Given the description of an element on the screen output the (x, y) to click on. 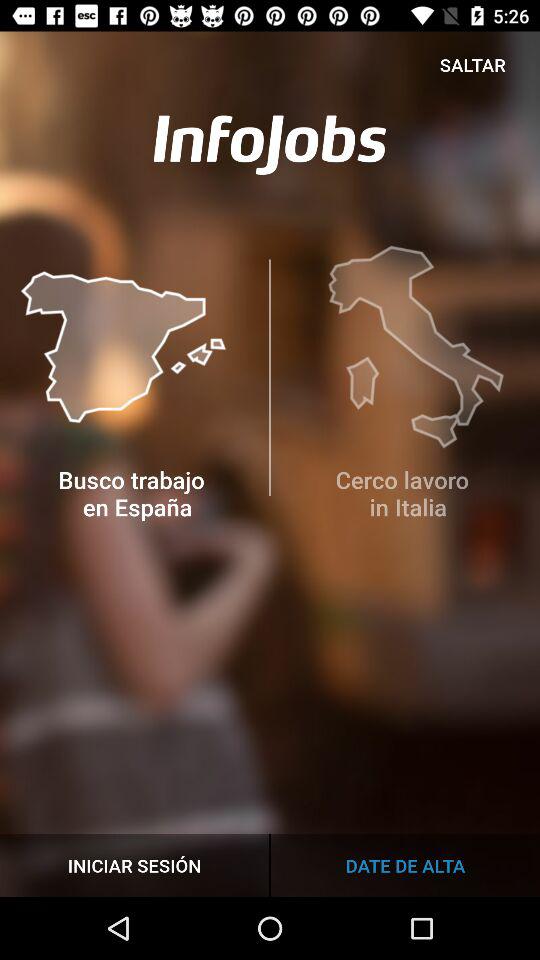
choose saltar item (472, 64)
